Given the description of an element on the screen output the (x, y) to click on. 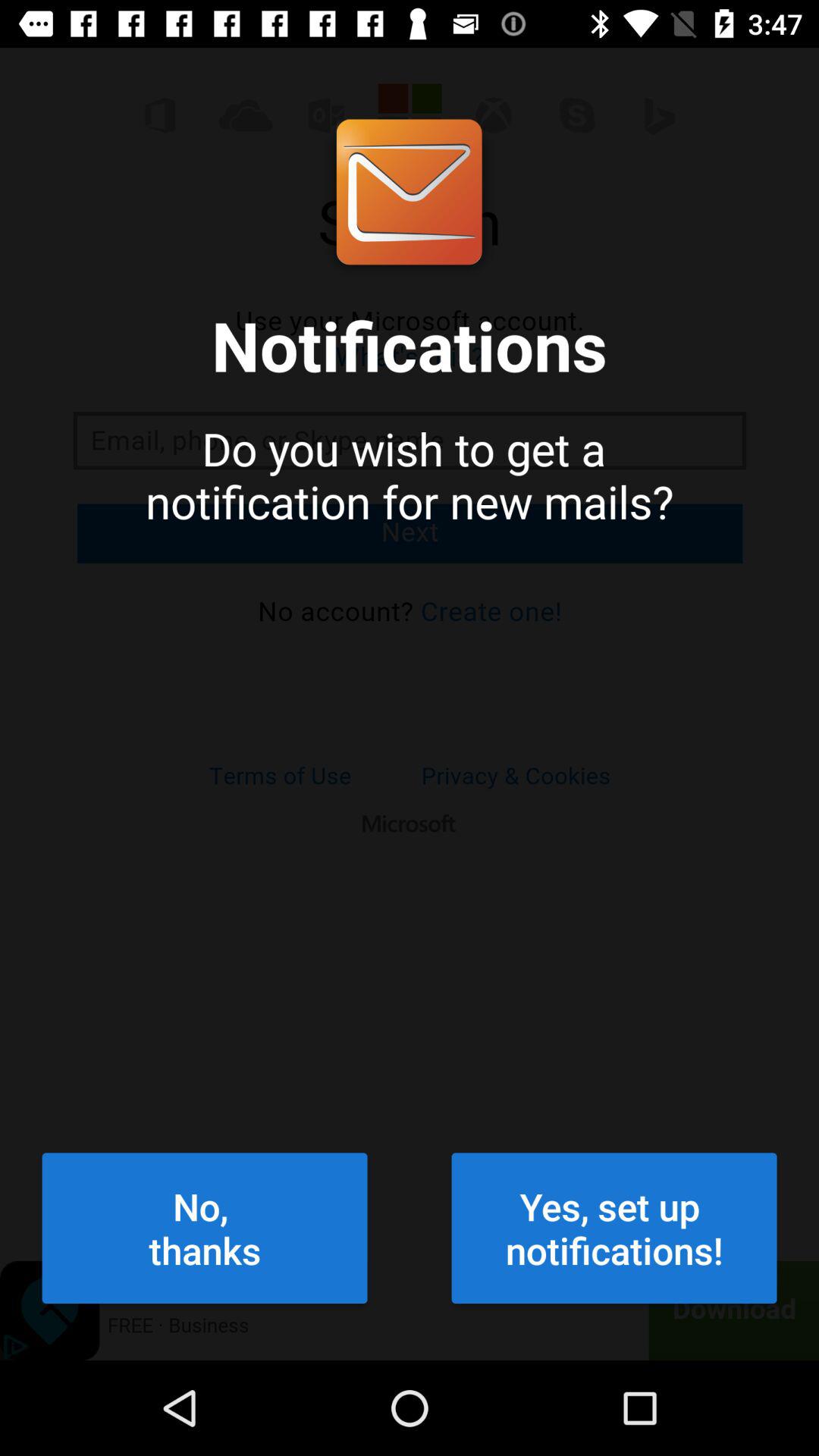
open the yes set up (613, 1227)
